Given the description of an element on the screen output the (x, y) to click on. 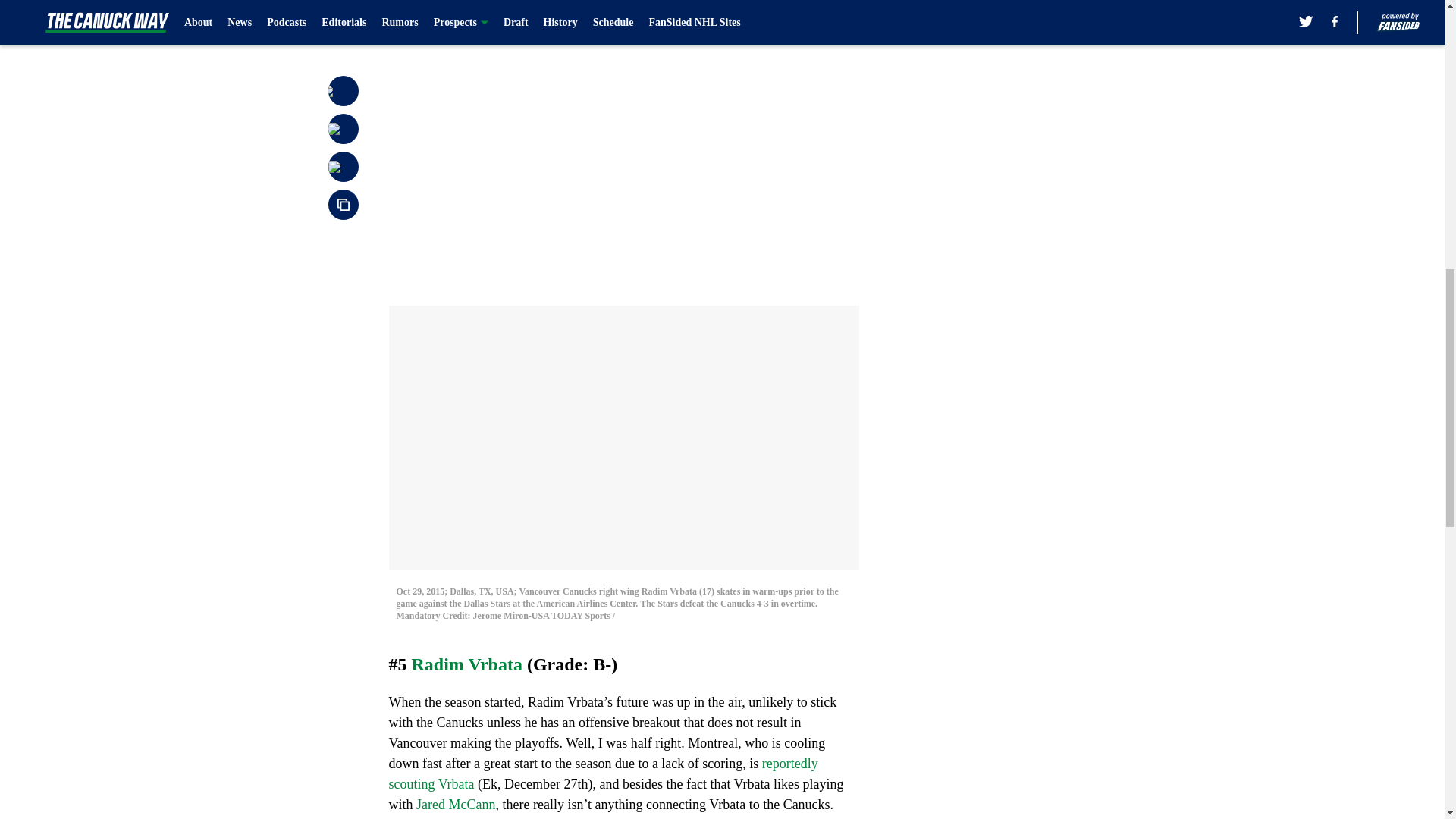
Jared McCann (455, 803)
Radim Vrbata (465, 663)
Next (813, 5)
 reportedly scouting Vrbata (602, 773)
Prev (433, 5)
